Given the description of an element on the screen output the (x, y) to click on. 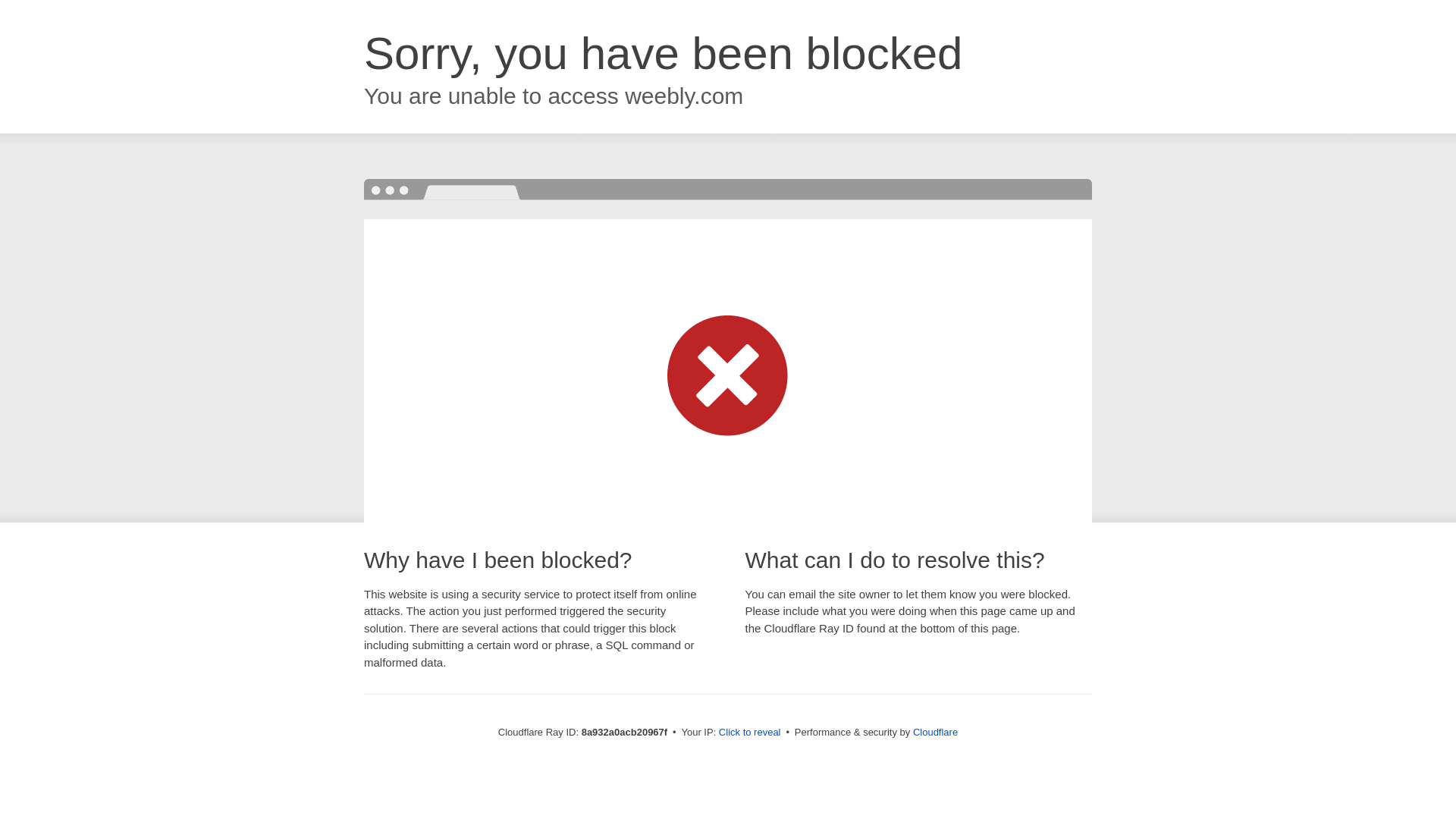
Cloudflare (935, 731)
Click to reveal (749, 732)
